Given the description of an element on the screen output the (x, y) to click on. 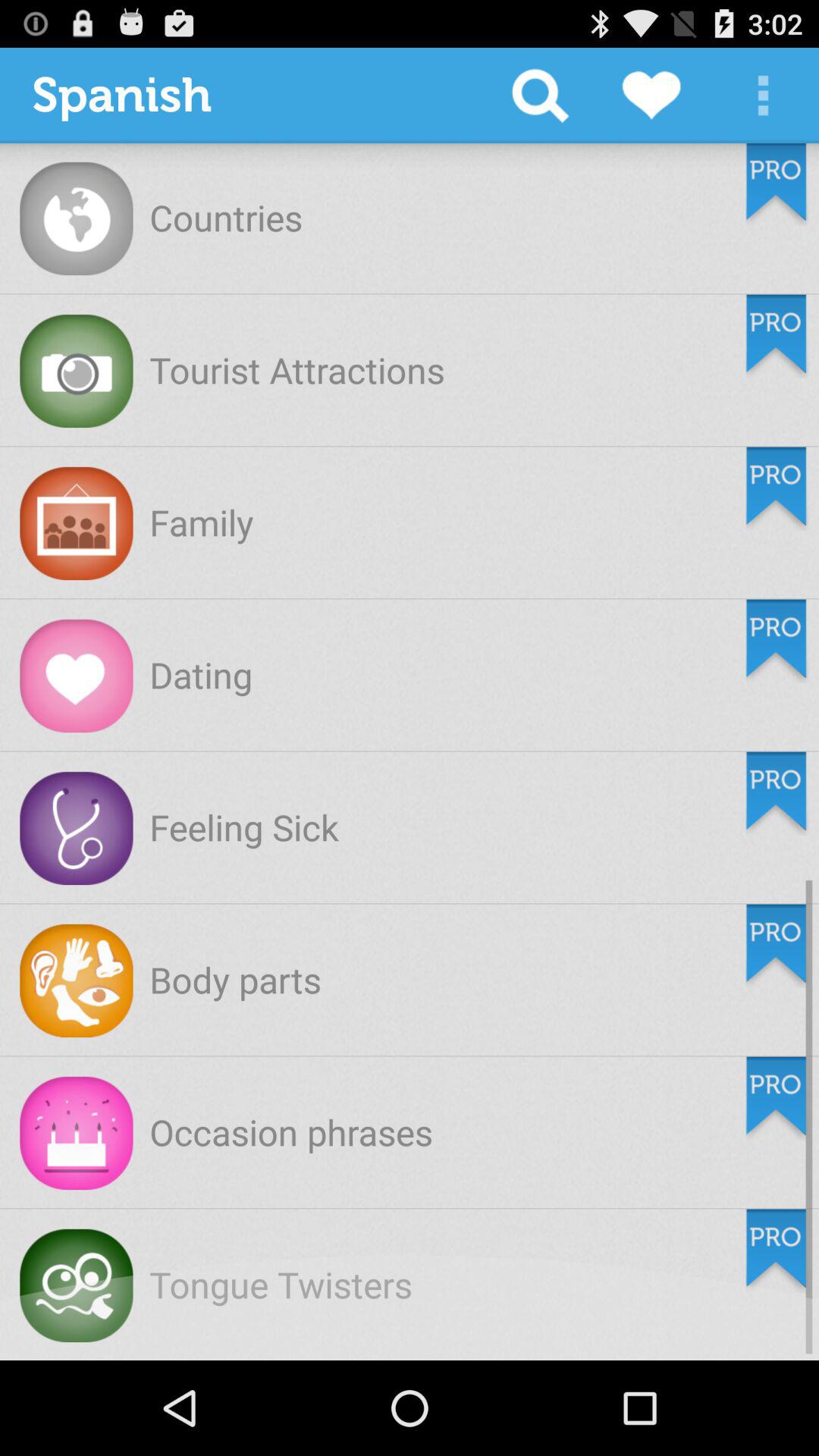
flip to countries icon (225, 217)
